Given the description of an element on the screen output the (x, y) to click on. 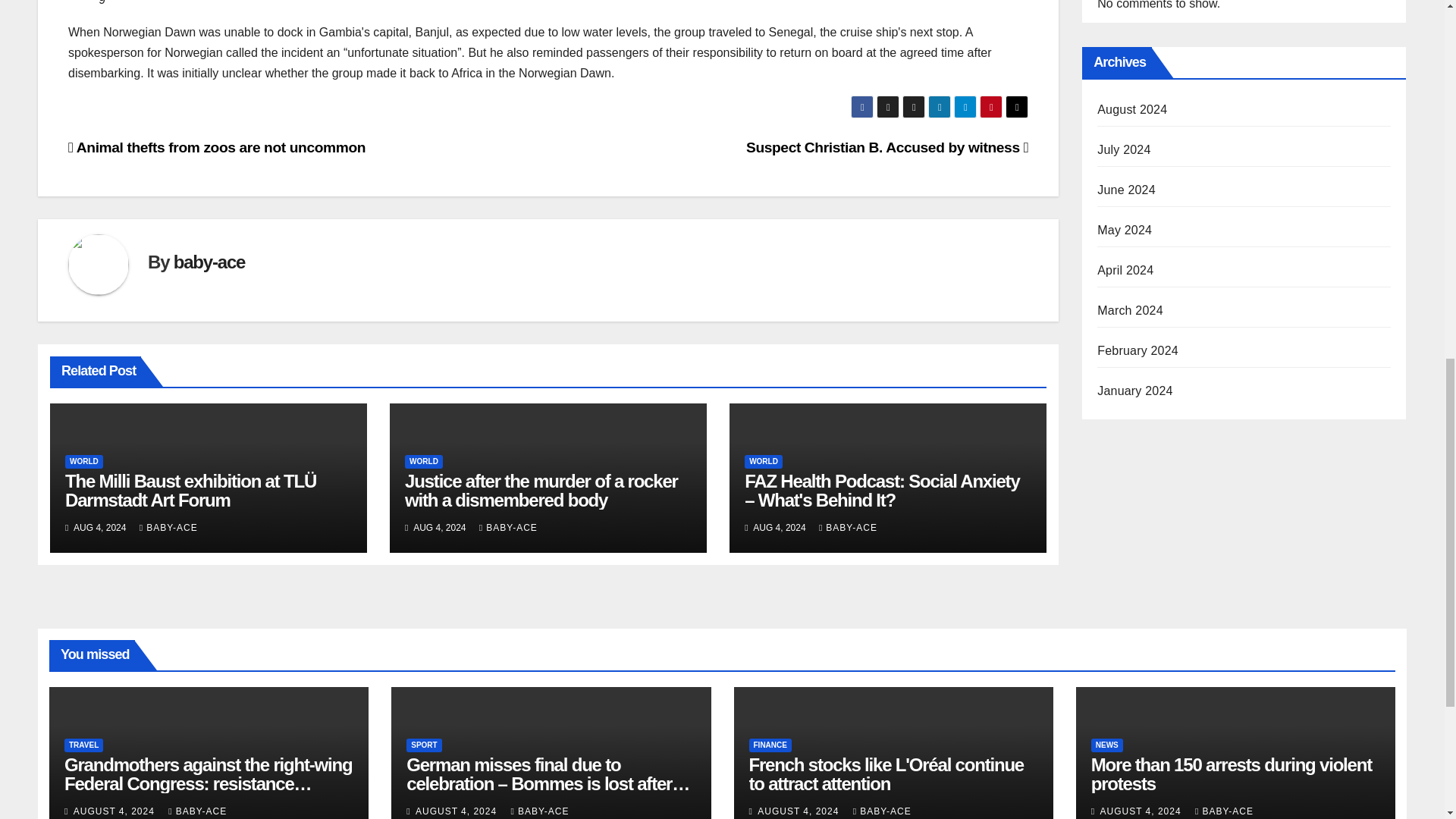
WORLD (84, 461)
Animal thefts from zoos are not uncommon (216, 147)
Justice after the murder of a rocker with a dismembered body (541, 490)
baby-ace (208, 261)
WORLD (763, 461)
BABY-ACE (508, 527)
WORLD (423, 461)
Suspect Christian B. Accused by witness (886, 147)
BABY-ACE (168, 527)
